Given the description of an element on the screen output the (x, y) to click on. 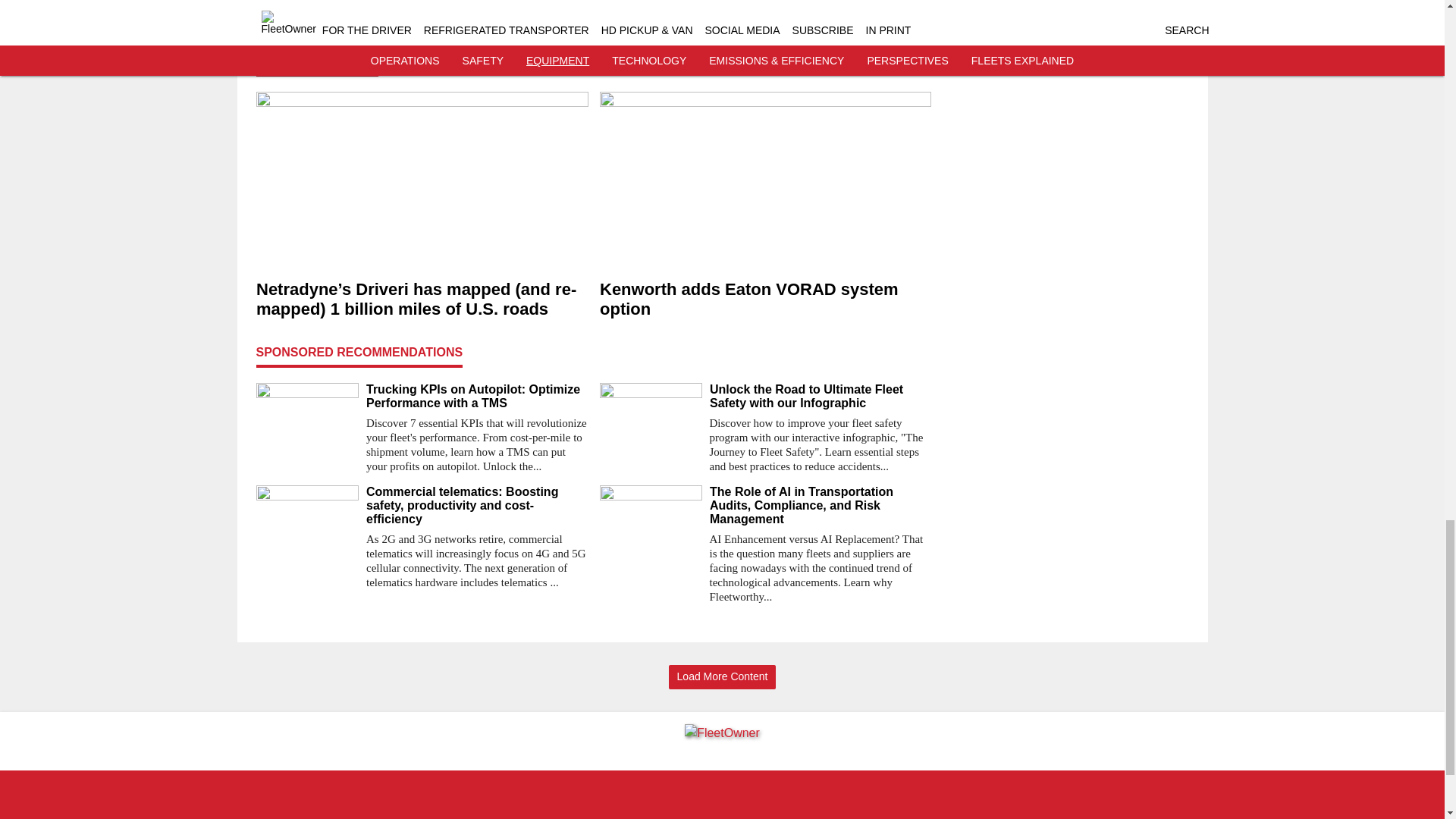
Trucking KPIs on Autopilot: Optimize Performance with a TMS (476, 396)
Kenworth adds Eaton VORAD system option (764, 300)
